Given the description of an element on the screen output the (x, y) to click on. 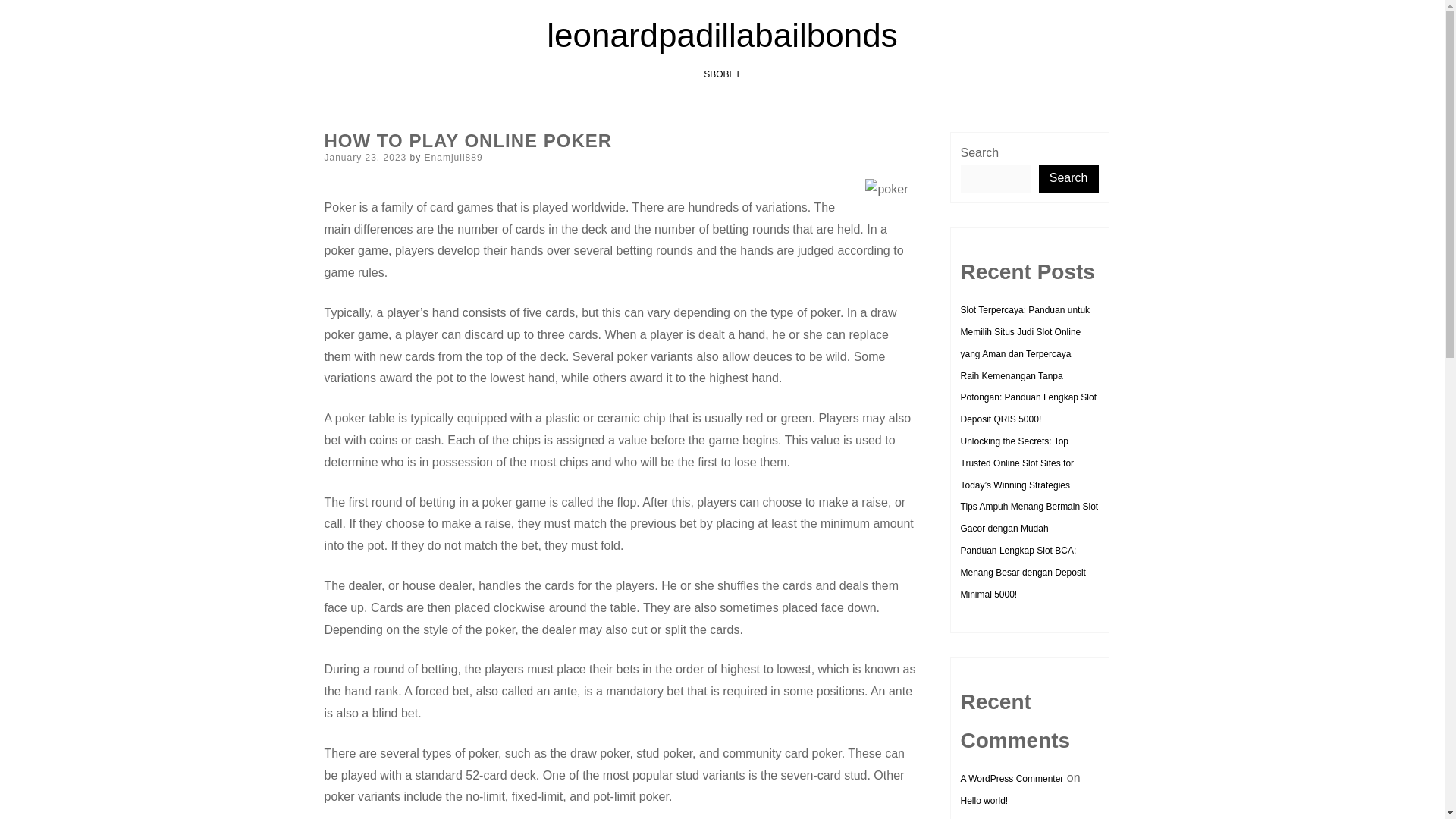
Search (1069, 178)
Hello world! (983, 800)
leonardpadillabailbonds (721, 35)
January 23, 2023 (365, 157)
Tips Ampuh Menang Bermain Slot Gacor dengan Mudah (1028, 517)
Enamjuli889 (454, 157)
A WordPress Commenter (1010, 778)
SBOBET (722, 73)
